Given the description of an element on the screen output the (x, y) to click on. 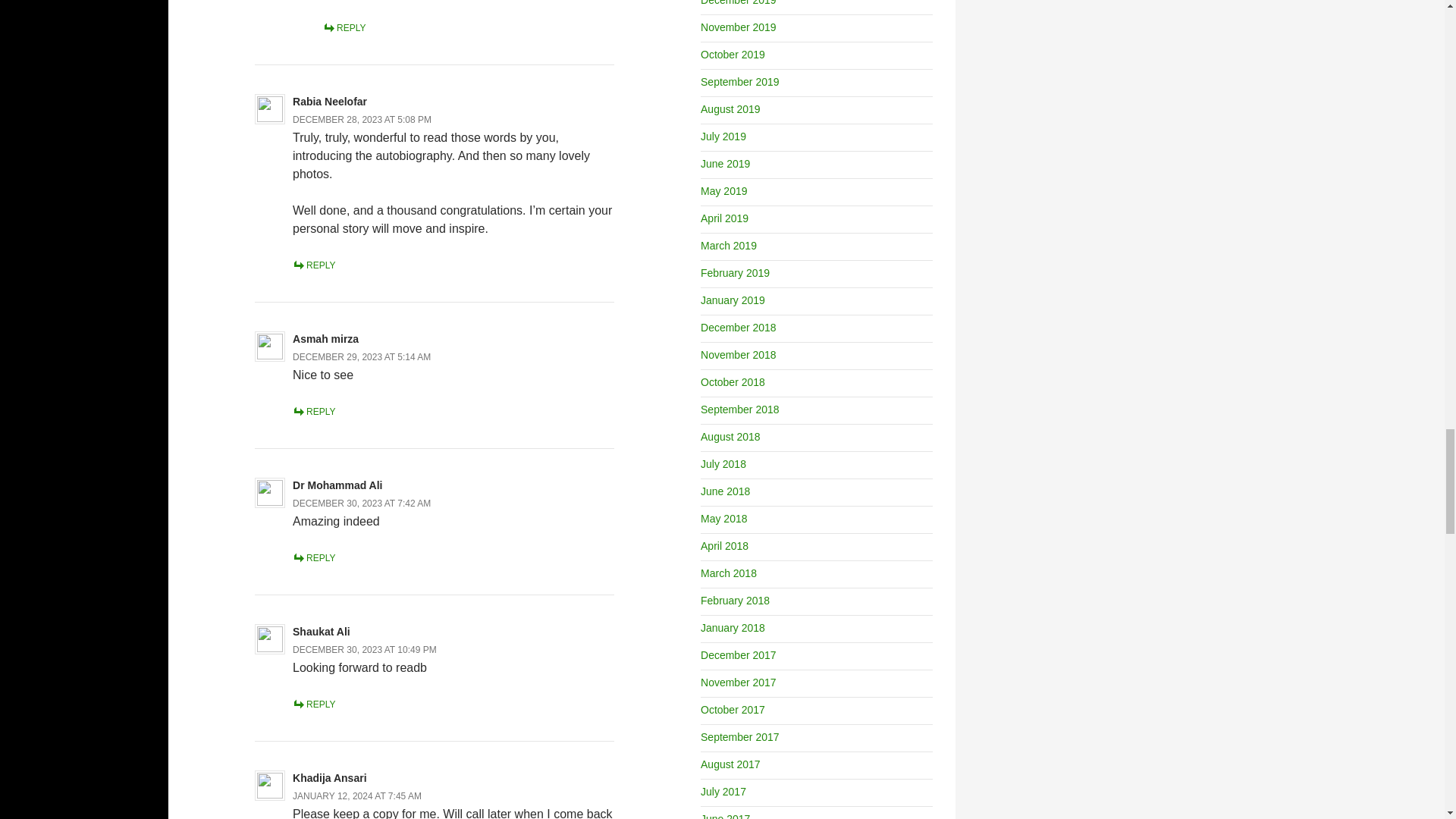
DECEMBER 28, 2023 AT 5:08 PM (361, 119)
REPLY (344, 27)
REPLY (313, 265)
DECEMBER 29, 2023 AT 5:14 AM (361, 357)
